Given the description of an element on the screen output the (x, y) to click on. 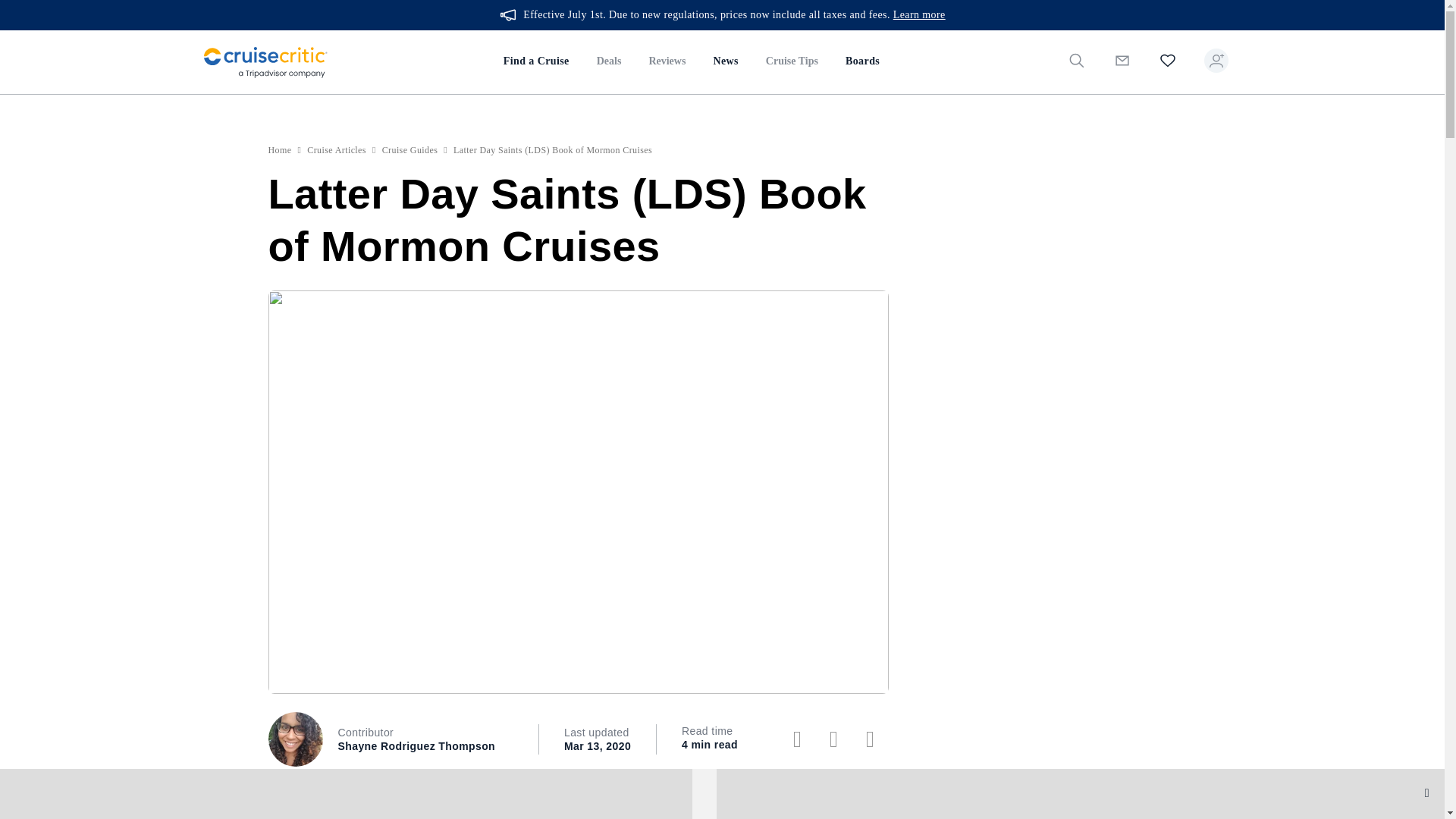
Home (279, 150)
Cruise Guides (409, 150)
Cruise Tips (791, 62)
Learn more (918, 15)
Cruise Articles (336, 150)
Find a Cruise (536, 62)
Reviews (666, 62)
Boards (861, 62)
